Given the description of an element on the screen output the (x, y) to click on. 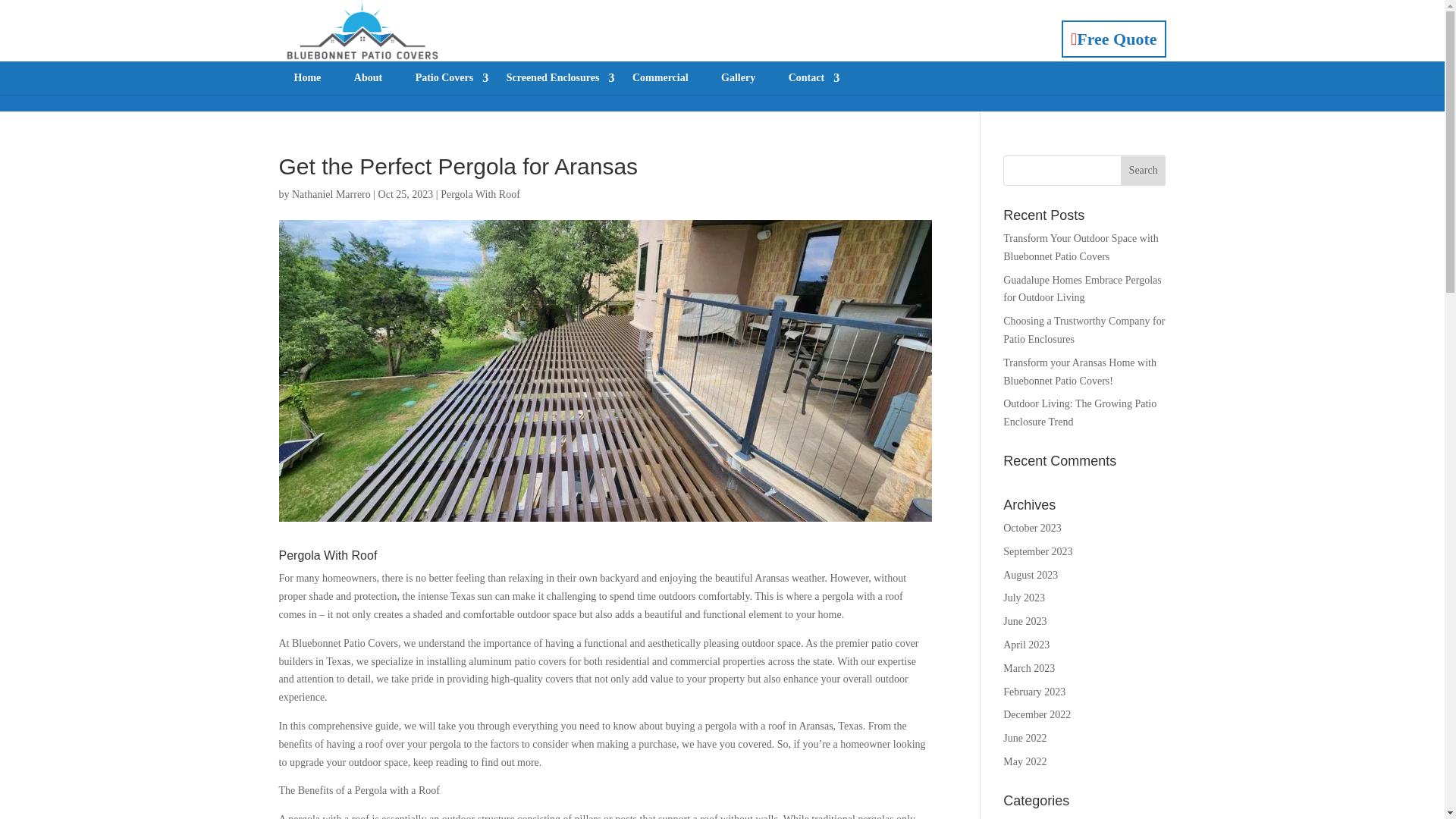
August 2023 (1030, 574)
June 2023 (1024, 621)
Patio Covers (444, 78)
Guadalupe Homes Embrace Pergolas for Outdoor Living (1082, 288)
Contact (806, 78)
May 2022 (1024, 761)
March 2023 (1028, 668)
Pergola With Roof (480, 194)
Nathaniel Marrero (331, 194)
Home (307, 78)
Gallery (738, 78)
July 2023 (1024, 597)
Commercial (660, 78)
April 2023 (1026, 644)
